Given the description of an element on the screen output the (x, y) to click on. 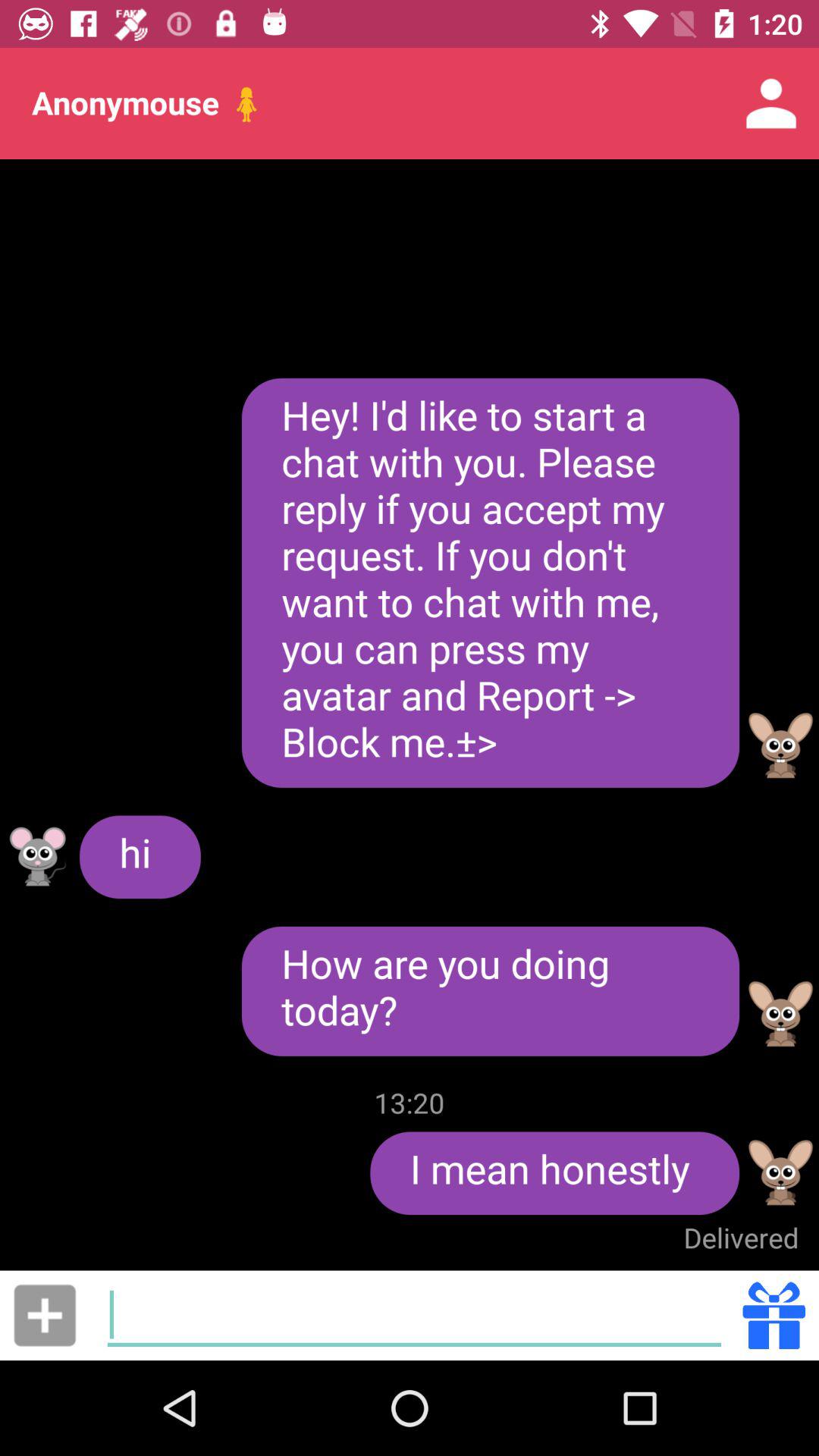
send gift (774, 1315)
